Given the description of an element on the screen output the (x, y) to click on. 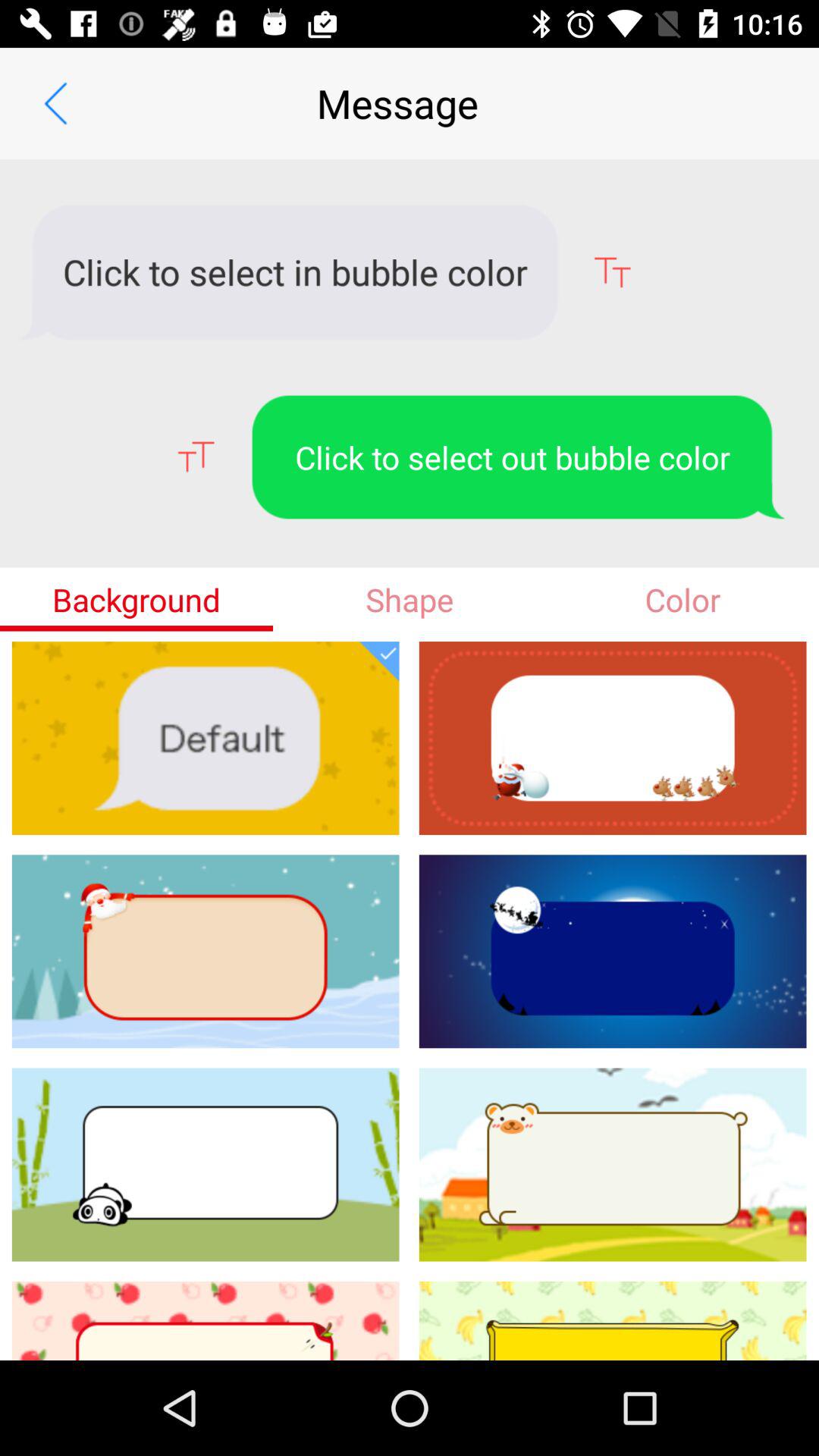
go to first option in last row (205, 1320)
select tick mark which is below shape (379, 661)
select the text which is immediately right to the background (409, 599)
select the symbol which is after click to select in bubble color (611, 272)
